Given the description of an element on the screen output the (x, y) to click on. 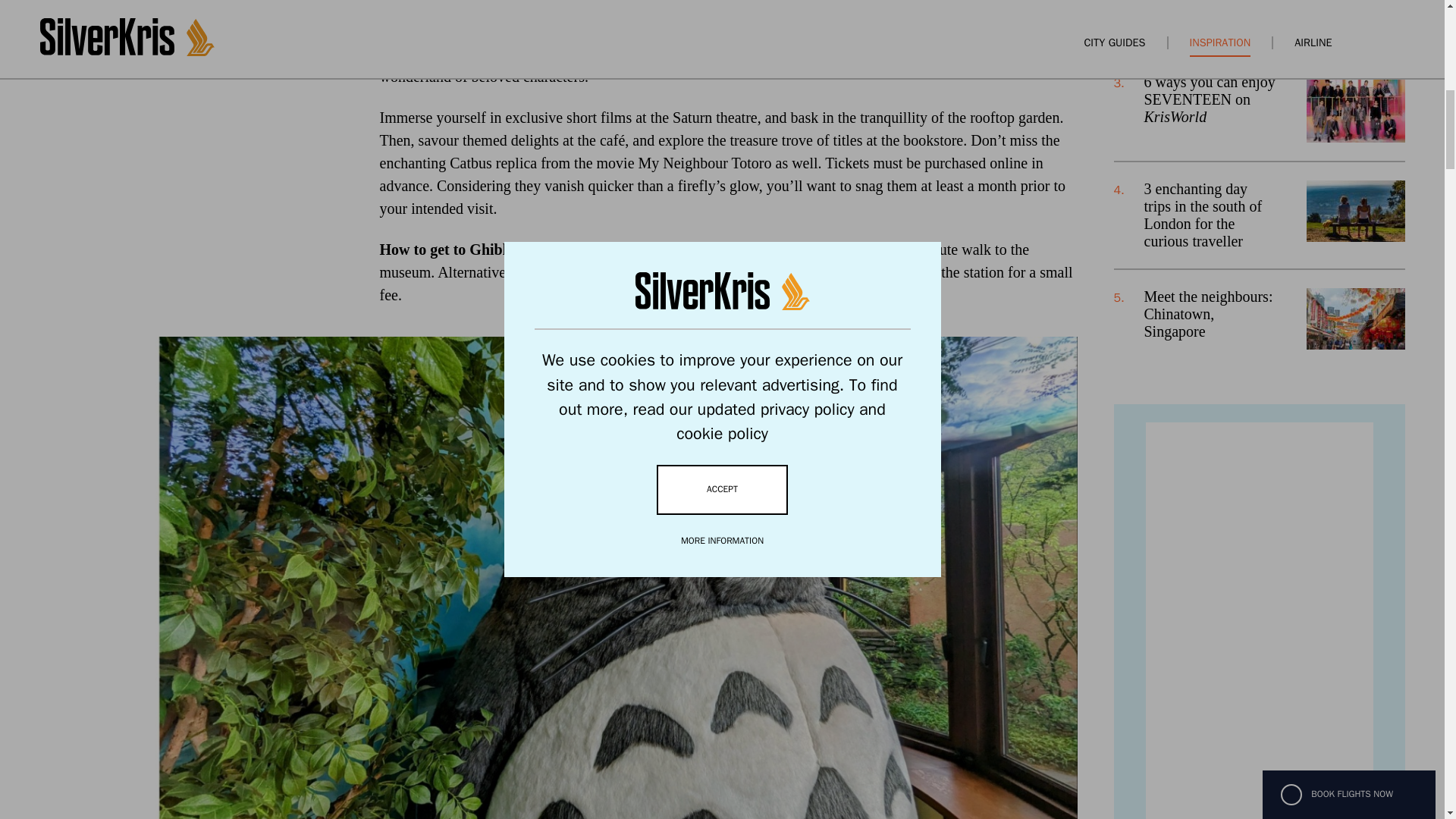
3rd party ad content (1258, 620)
